Given the description of an element on the screen output the (x, y) to click on. 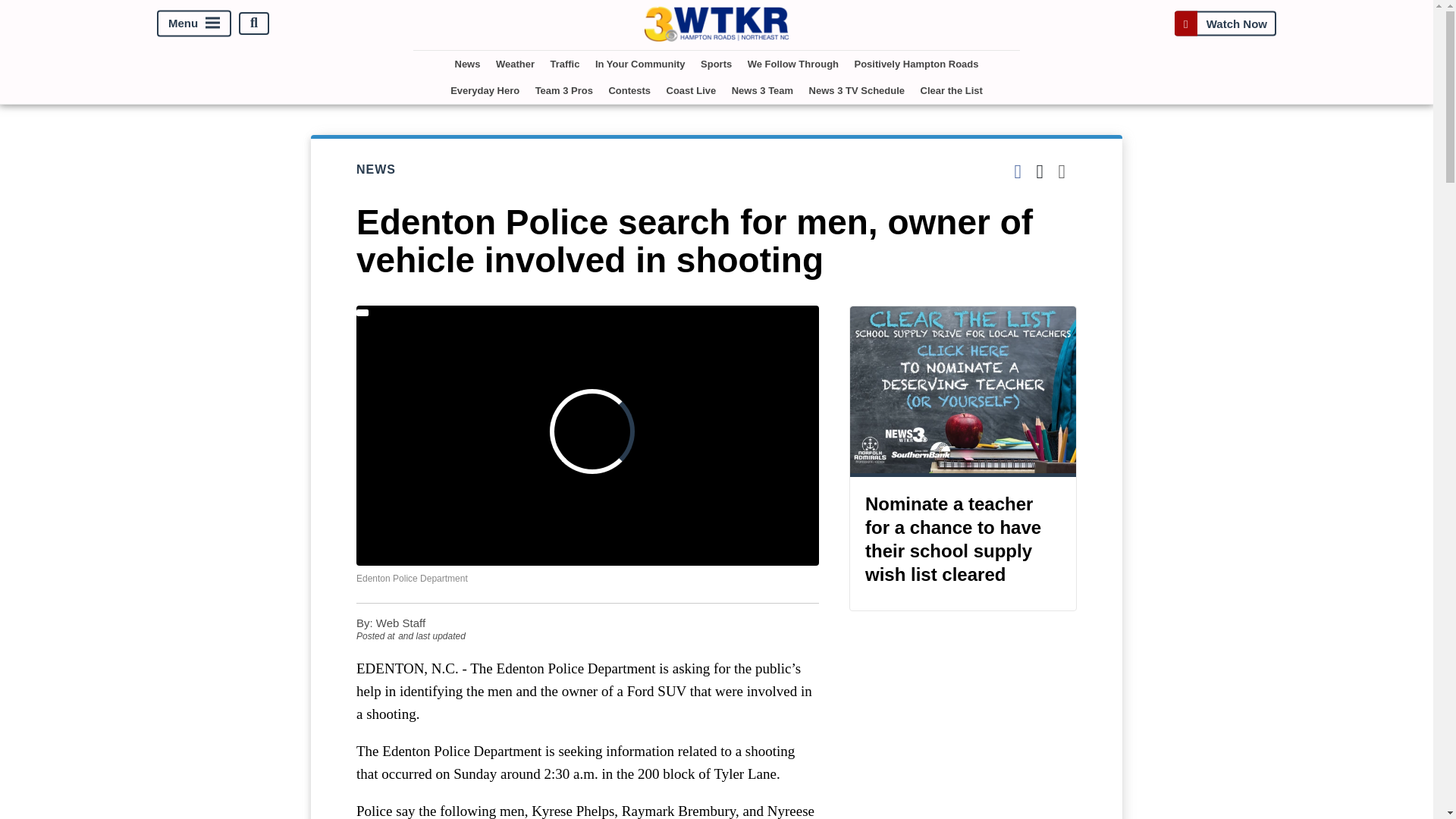
Menu (194, 22)
Watch Now (1224, 22)
